Given the description of an element on the screen output the (x, y) to click on. 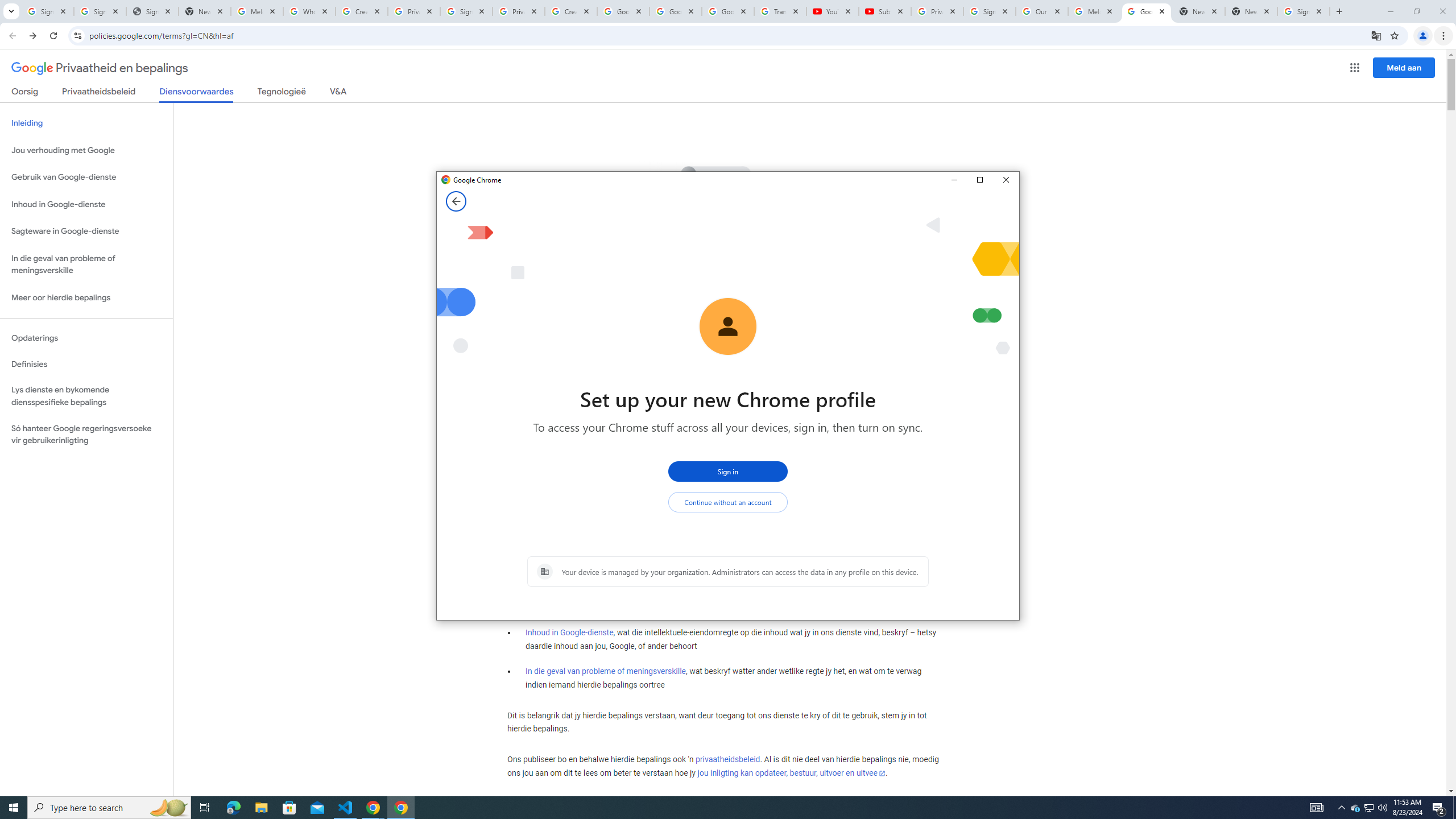
Sign in - Google Accounts (989, 11)
Translate this page (1376, 35)
Microsoft Edge (233, 807)
Microsoft Store (289, 807)
